Given the description of an element on the screen output the (x, y) to click on. 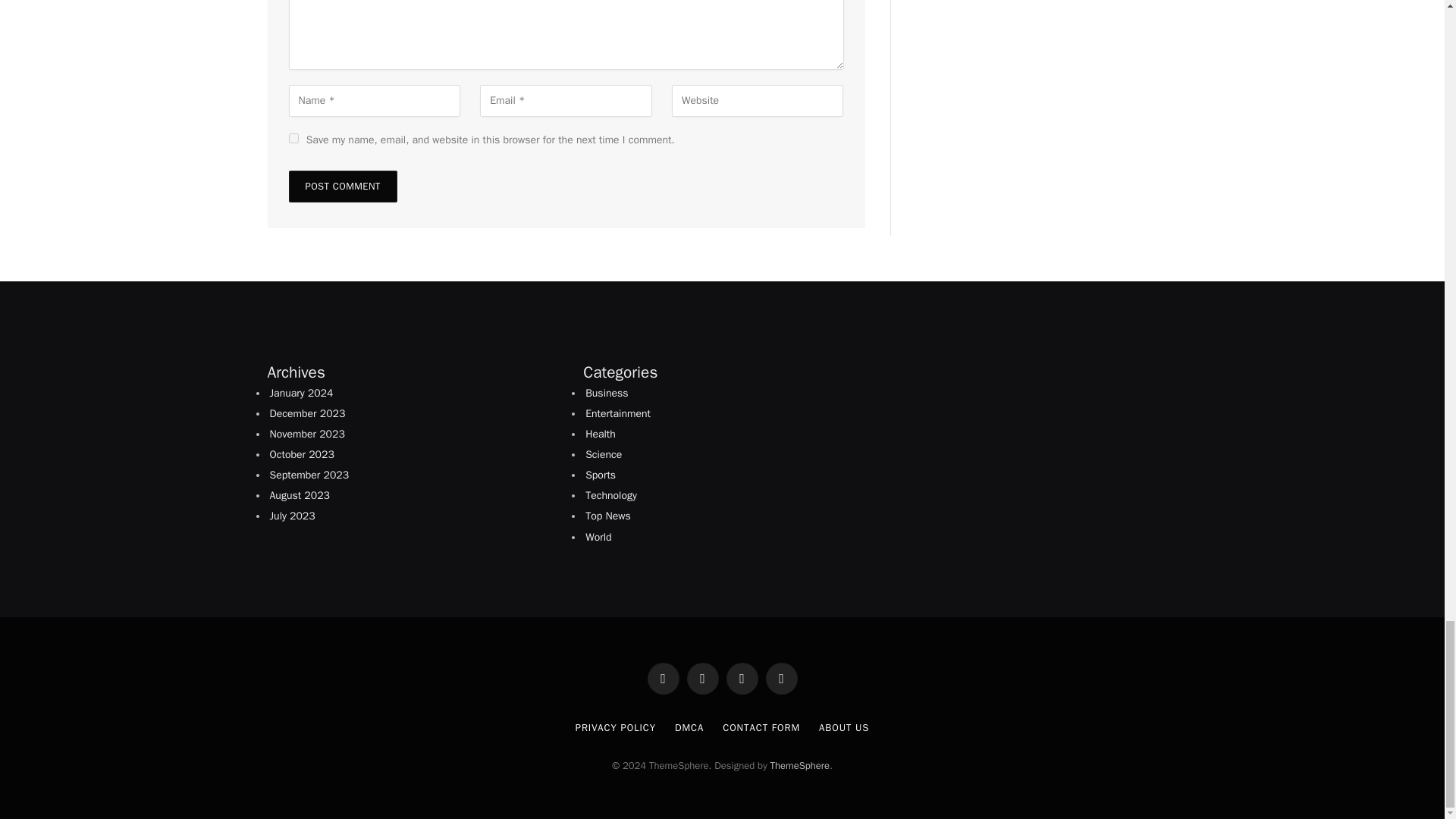
Post Comment (342, 186)
yes (293, 138)
